Given the description of an element on the screen output the (x, y) to click on. 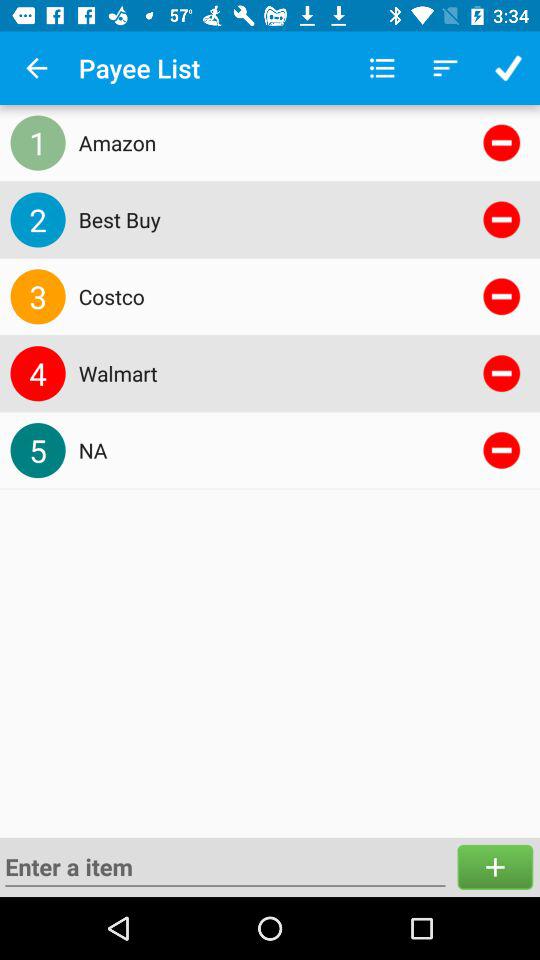
press item next to payee list icon (381, 67)
